Given the description of an element on the screen output the (x, y) to click on. 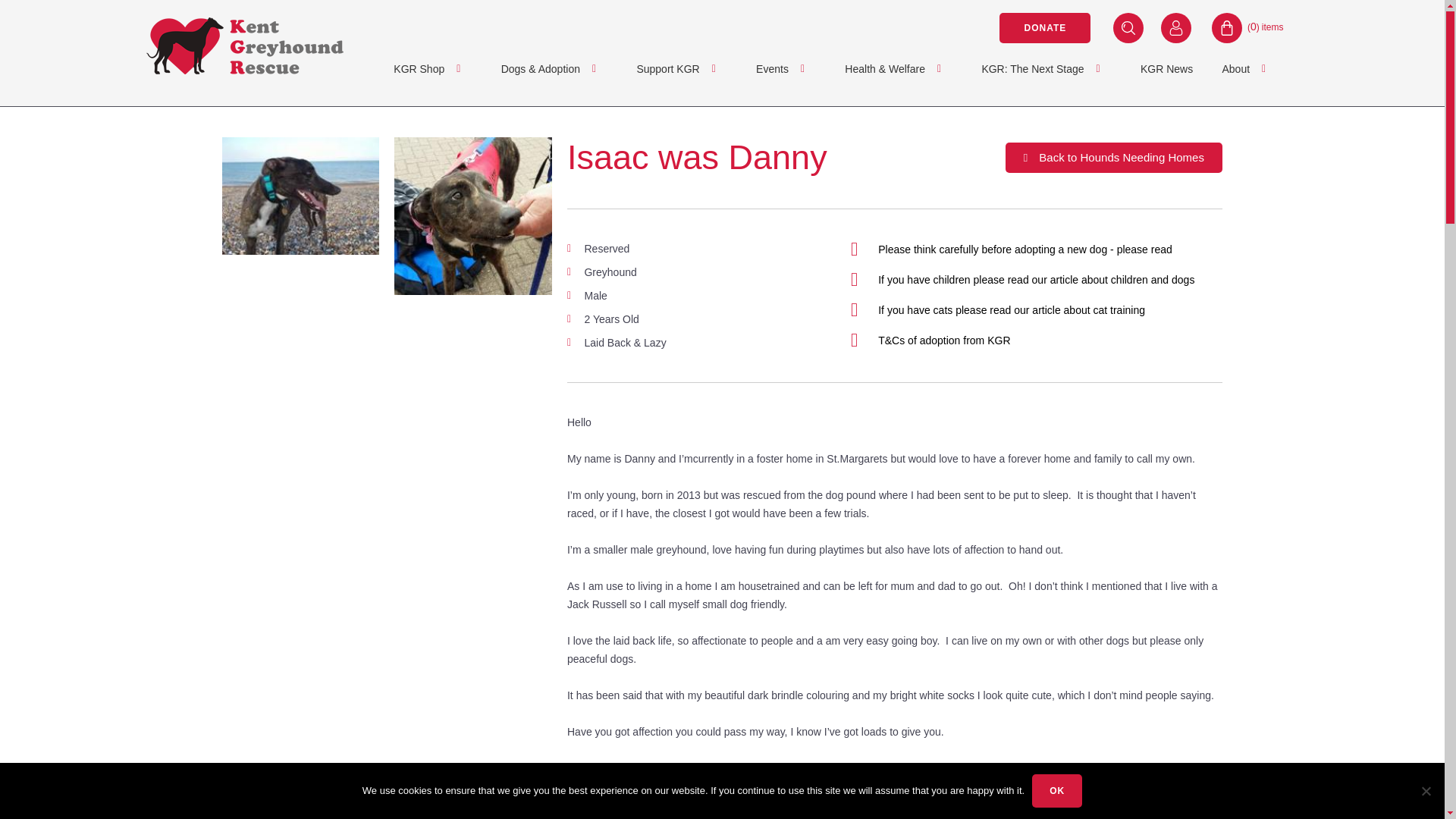
View your shopping cart (1239, 28)
View your shopping cart (1264, 27)
No (1425, 790)
KGR Shop (439, 69)
